Given the description of an element on the screen output the (x, y) to click on. 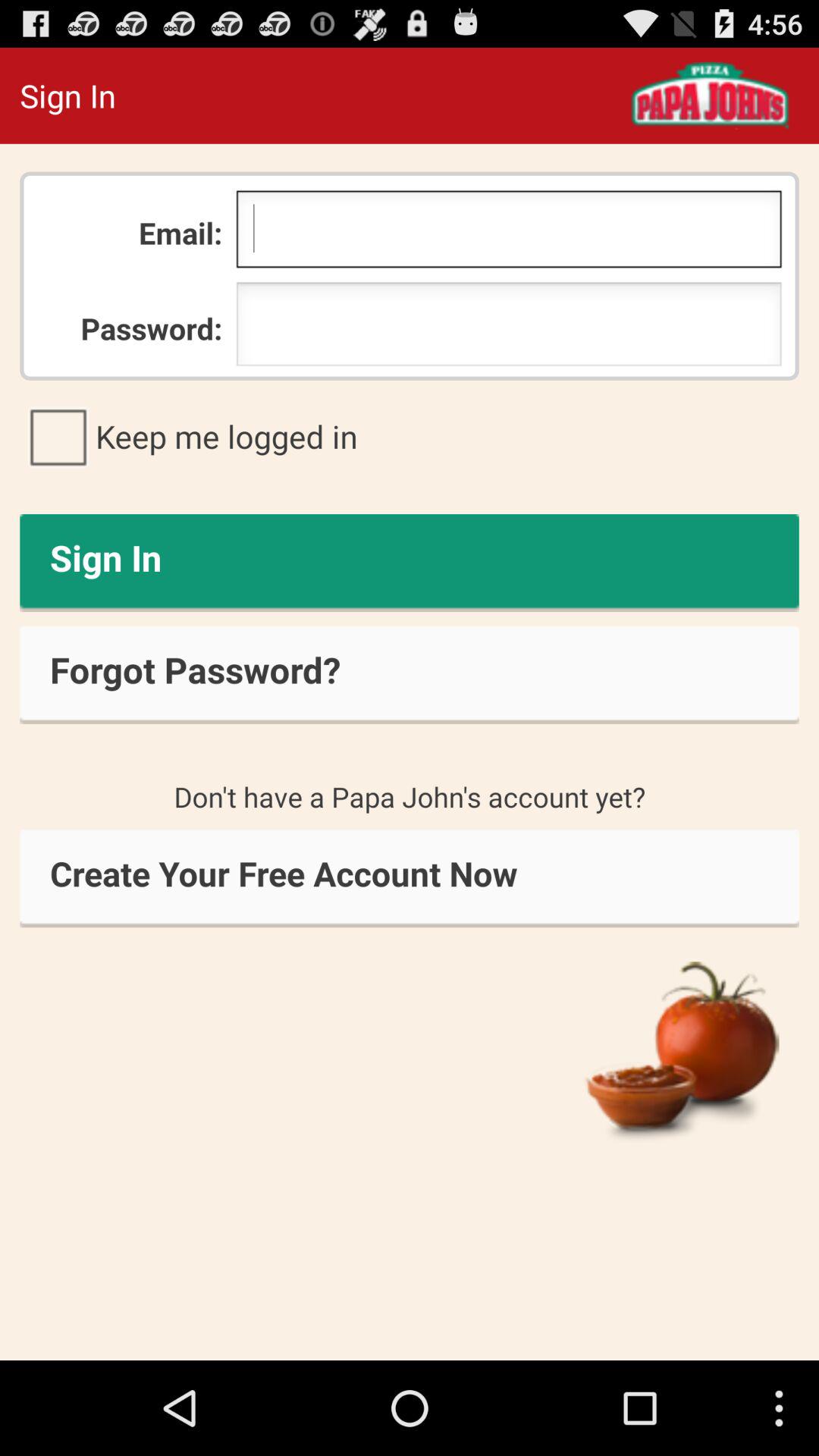
turn off create your free item (409, 878)
